Given the description of an element on the screen output the (x, y) to click on. 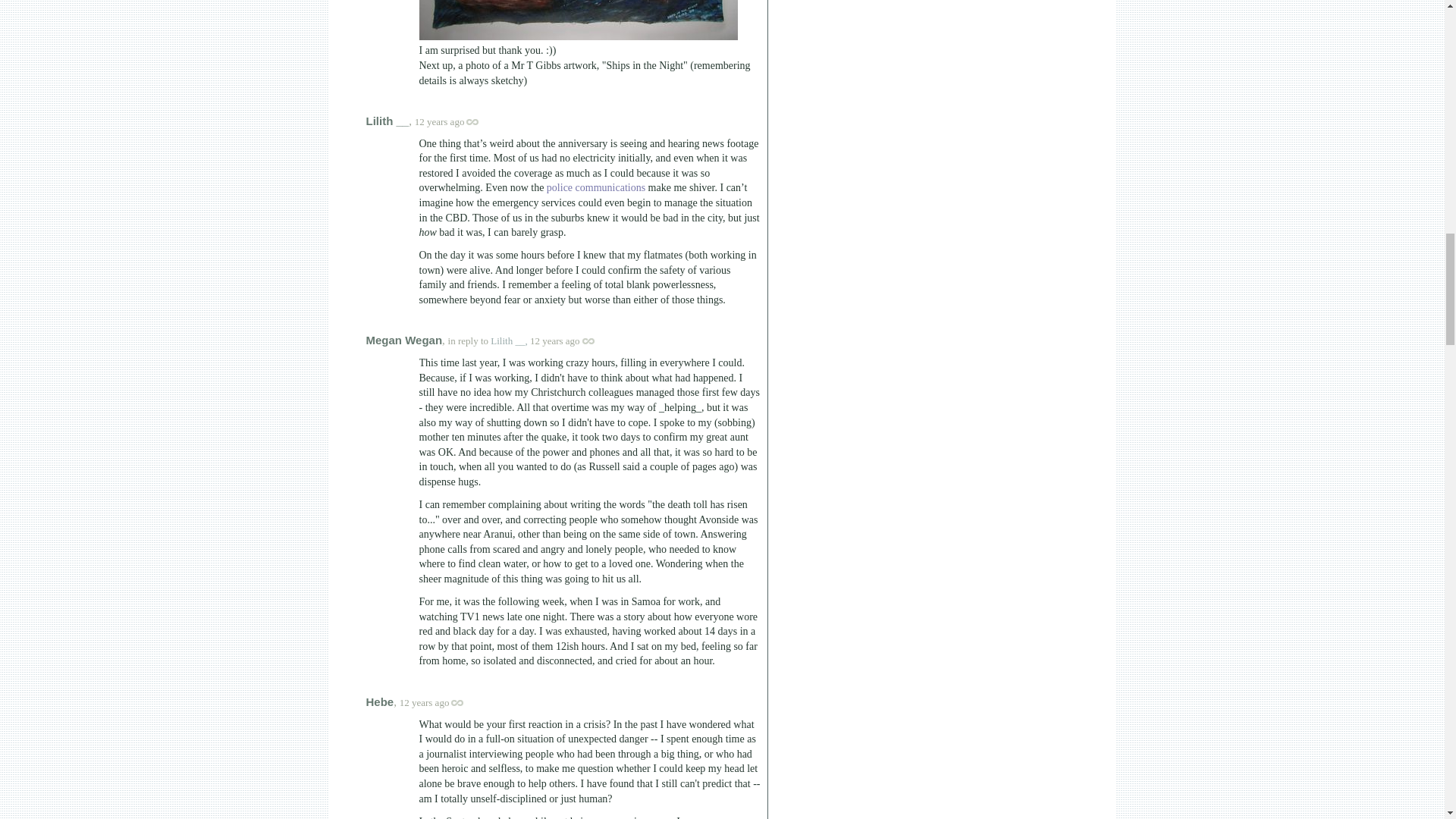
10:16 Feb 23, 2012 (439, 121)
11:00 Feb 23, 2012 (554, 340)
12:47 Feb 23, 2012 (423, 702)
